Given the description of an element on the screen output the (x, y) to click on. 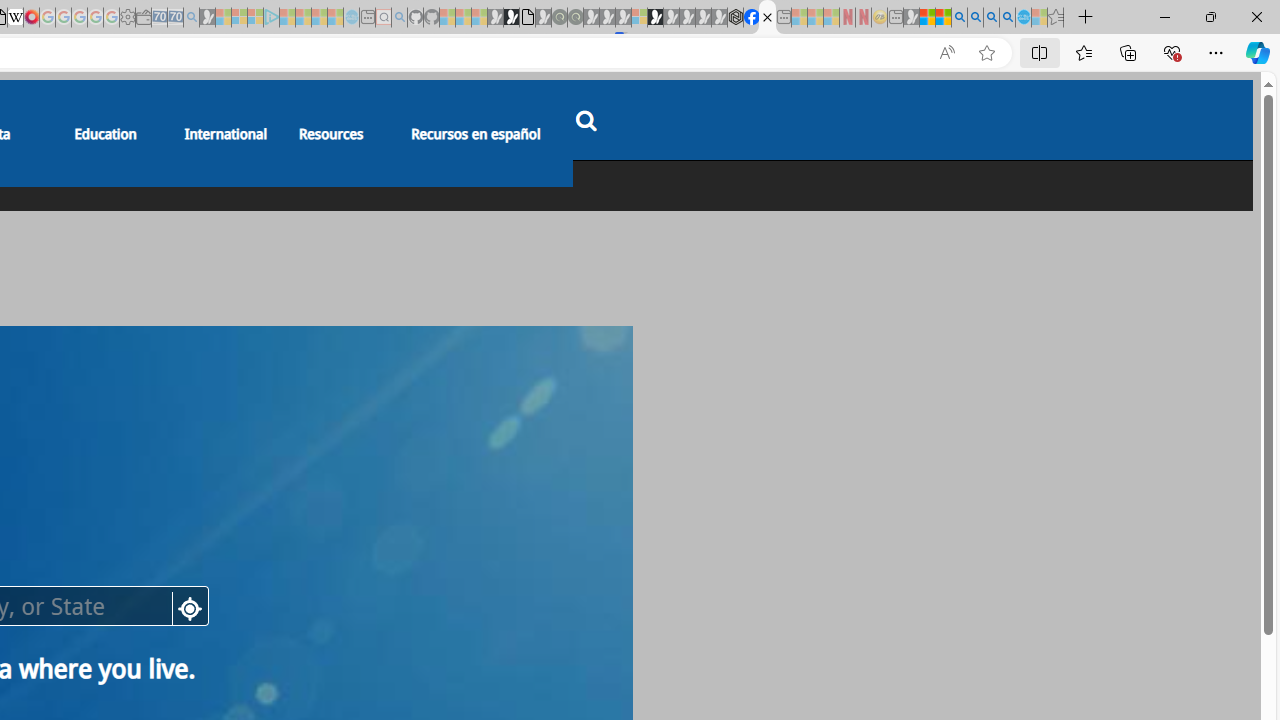
MSN - Sleeping (911, 17)
AirNow.gov (767, 17)
2009 Bing officially replaced Live Search on June 3 - Search (975, 17)
